Given the description of an element on the screen output the (x, y) to click on. 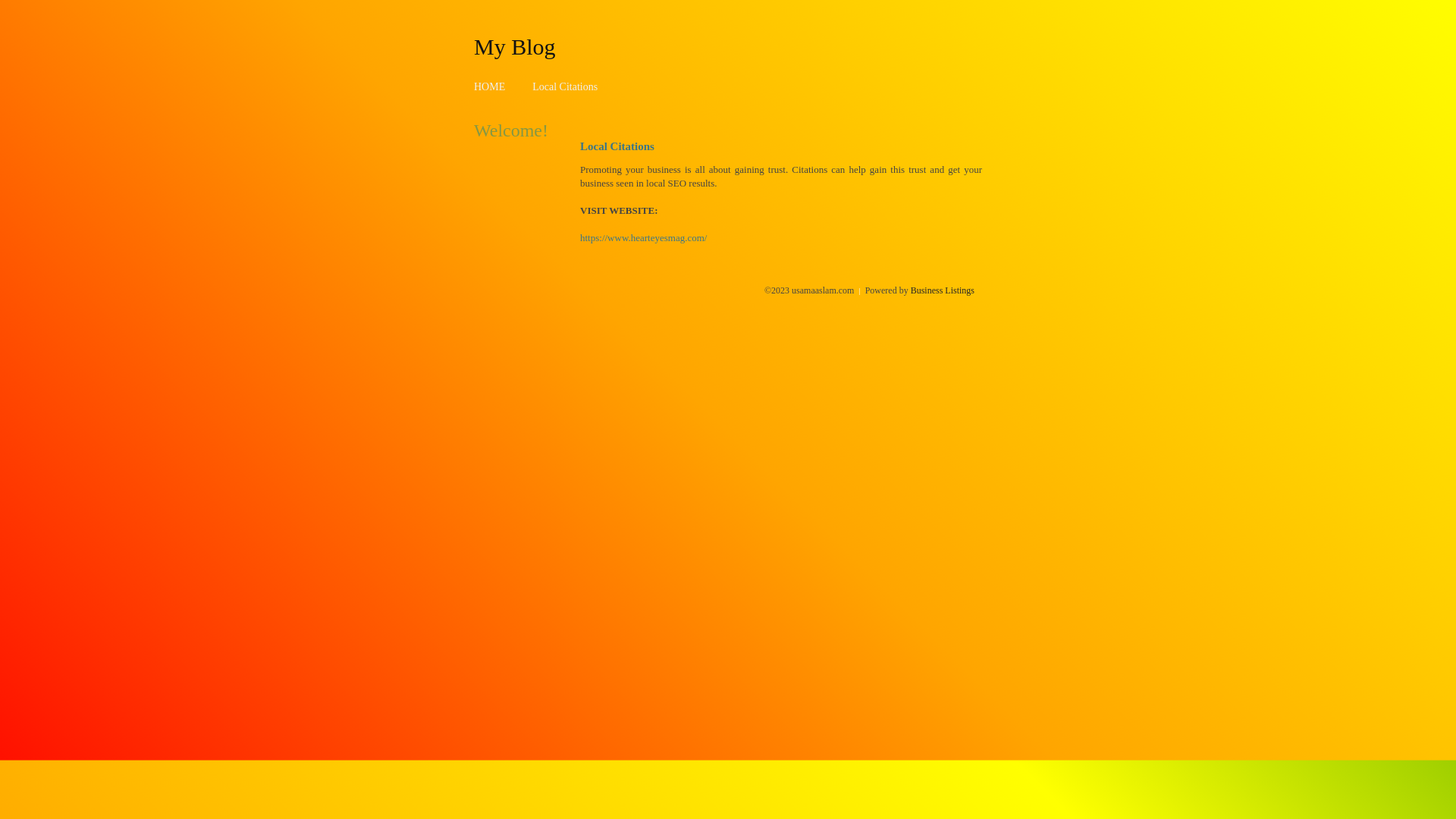
https://www.hearteyesmag.com/ Element type: text (643, 237)
My Blog Element type: text (514, 46)
Business Listings Element type: text (942, 290)
Local Citations Element type: text (564, 86)
HOME Element type: text (489, 86)
